Given the description of an element on the screen output the (x, y) to click on. 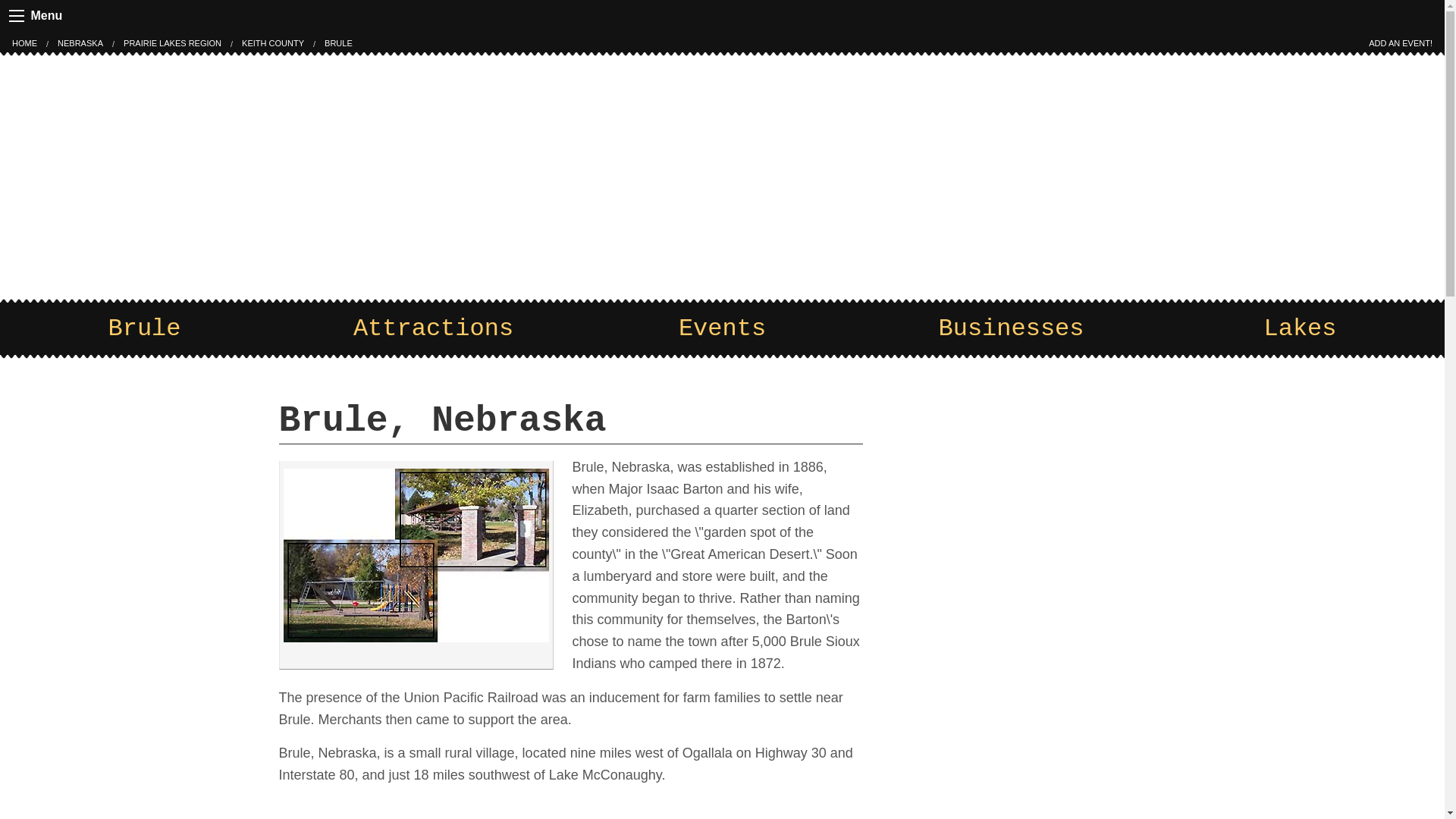
Brule Businessess (1011, 327)
PRAIRIE LAKES REGION (172, 42)
Add Events (1400, 42)
Prairie Lakes Region (172, 42)
Attractions (433, 327)
HOME (24, 42)
KEITH COUNTY (272, 42)
Brule Homepage (338, 42)
ADD AN EVENT! (1400, 42)
Events (722, 327)
